Given the description of an element on the screen output the (x, y) to click on. 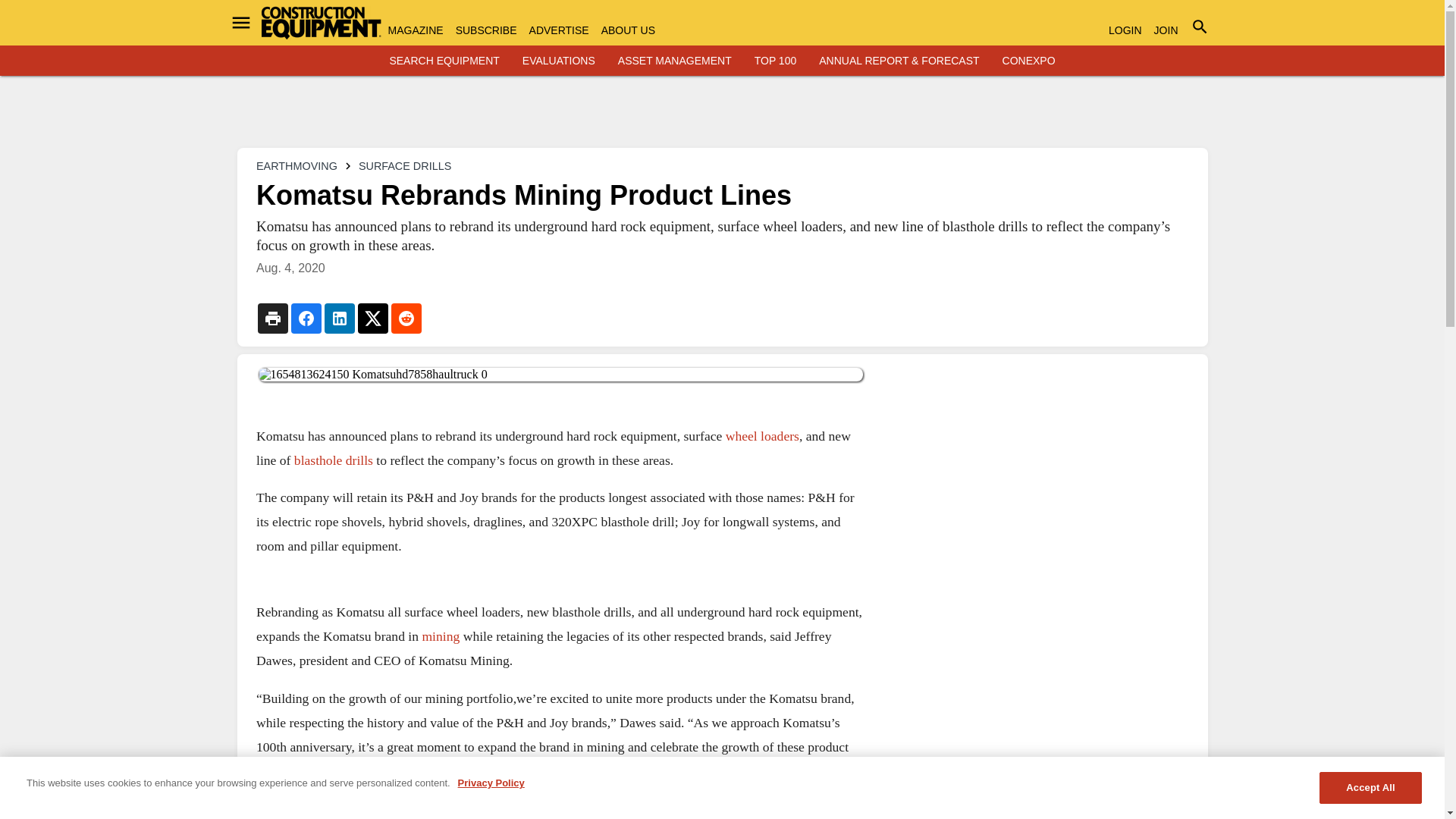
EVALUATIONS (558, 60)
SEARCH EQUIPMENT (443, 60)
LOGIN (1124, 30)
SUBSCRIBE (485, 30)
1654813624150 Komatsuhd7858haultruck 0 (559, 374)
ASSET MANAGEMENT (674, 60)
ADVERTISE (559, 30)
MAGAZINE (416, 30)
TOP 100 (775, 60)
CONEXPO (1029, 60)
JOIN (1165, 30)
ABOUT US (628, 30)
